Given the description of an element on the screen output the (x, y) to click on. 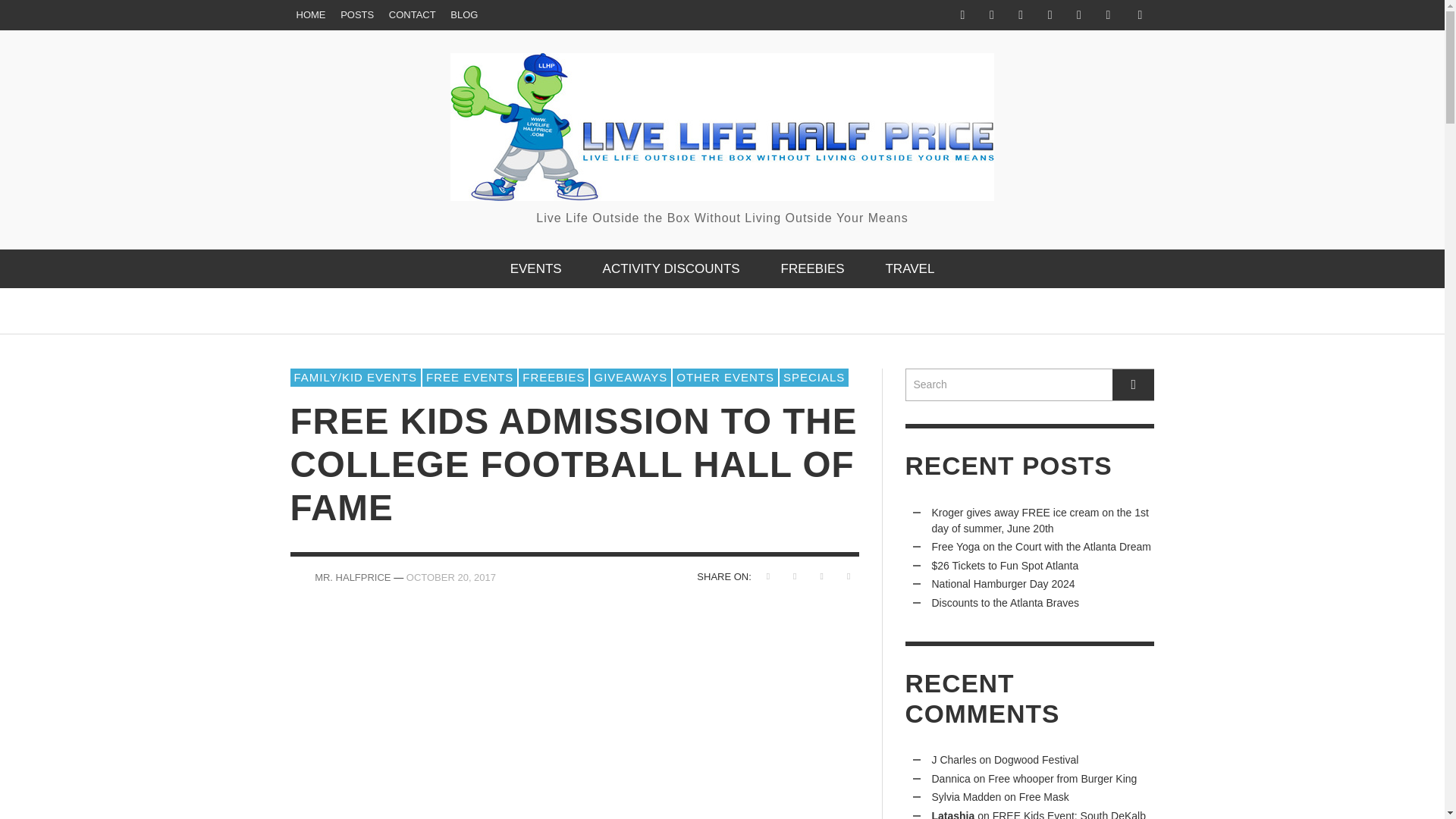
HOME (310, 15)
EVENTS (536, 268)
Live Life Outside the Box Without Living Outside Your Means (721, 139)
Instagram (1020, 15)
Search (1029, 384)
Twitter (1107, 15)
Pinterest (1078, 15)
POSTS (357, 15)
LinkedIn (1049, 15)
Facebook (961, 15)
